Given the description of an element on the screen output the (x, y) to click on. 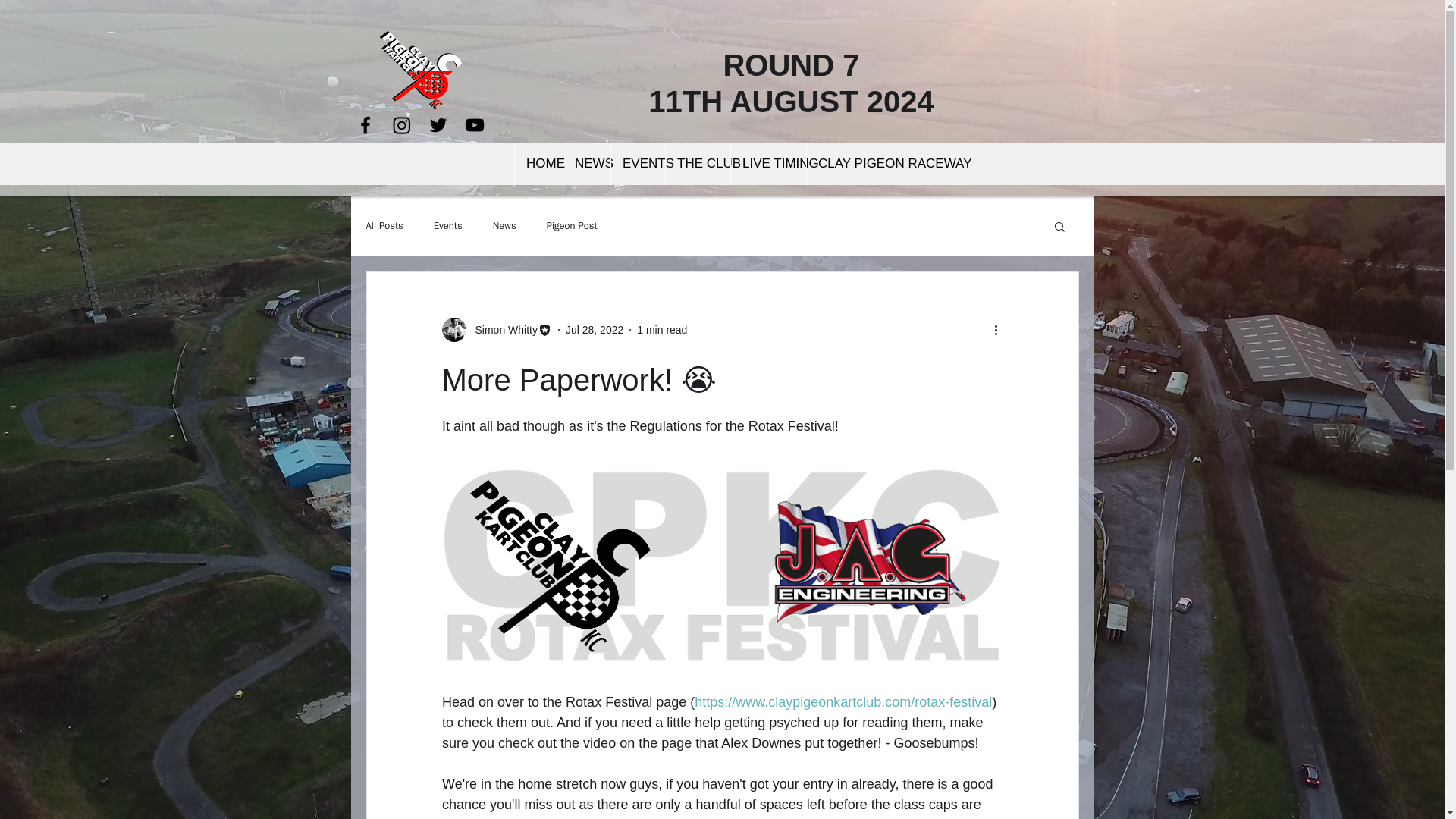
HOME (537, 163)
All Posts (384, 225)
Pigeon Post (571, 225)
1 min read (662, 328)
Simon Whitty (501, 329)
News (504, 225)
CLAY PIGEON RACEWAY (868, 163)
Clay Pigeon Kart Club.png (419, 71)
LIVE TIMING (768, 163)
NEWS (586, 163)
Jul 28, 2022 (594, 328)
Events (448, 225)
THE CLUB (697, 163)
